Given the description of an element on the screen output the (x, y) to click on. 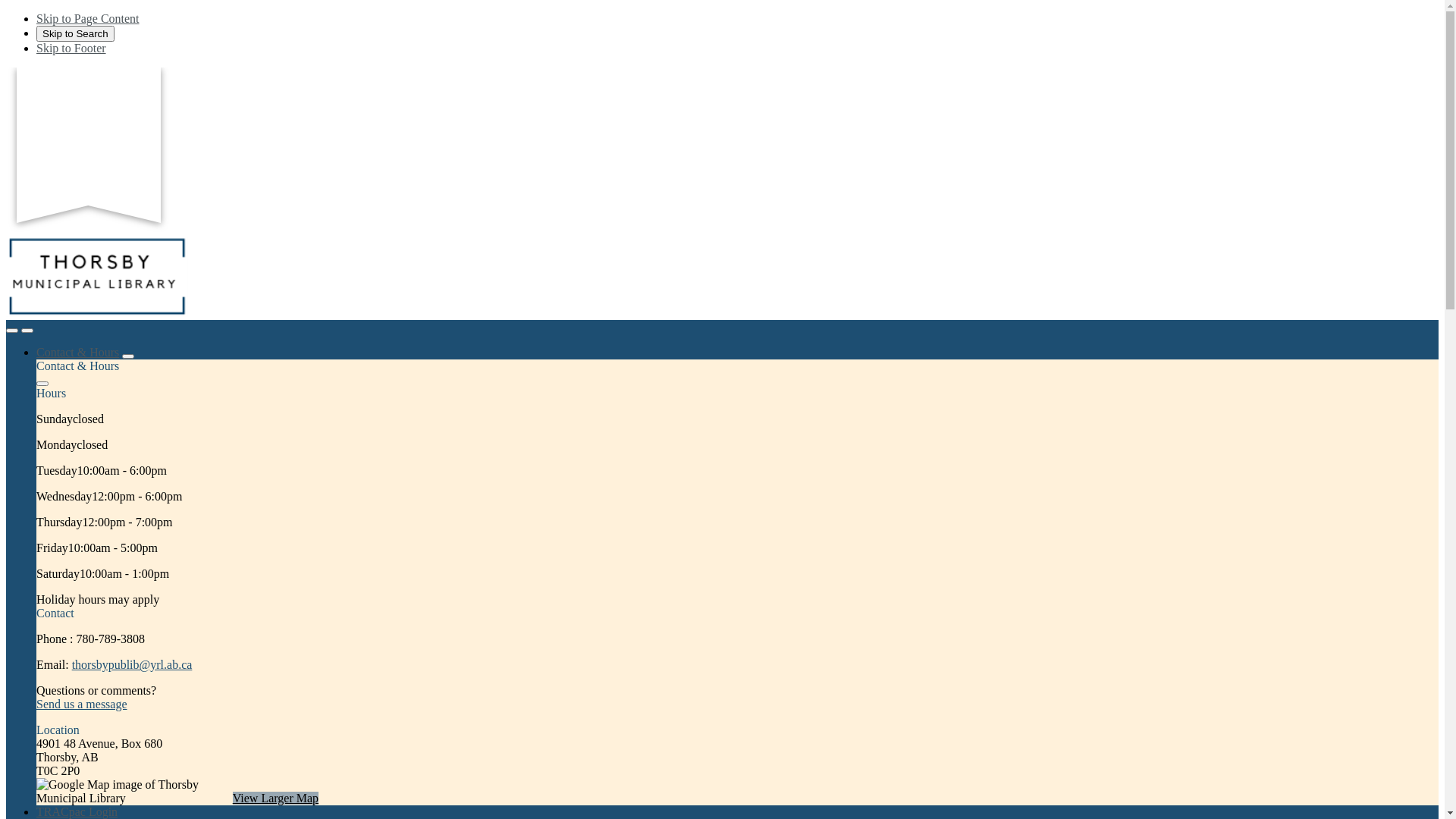
Send us a message Element type: text (81, 703)
Contact & Hours Element type: text (77, 351)
TRACpac Login Element type: text (76, 811)
Skip to Footer Element type: text (71, 47)
thorsbypublib@yrl.ab.ca Element type: text (132, 664)
Thorsby Municipal Library Element type: hover (97, 312)
View Larger Map Element type: text (275, 797)
Skip to Search Element type: text (75, 33)
Skip to Page Content Element type: text (87, 18)
